Given the description of an element on the screen output the (x, y) to click on. 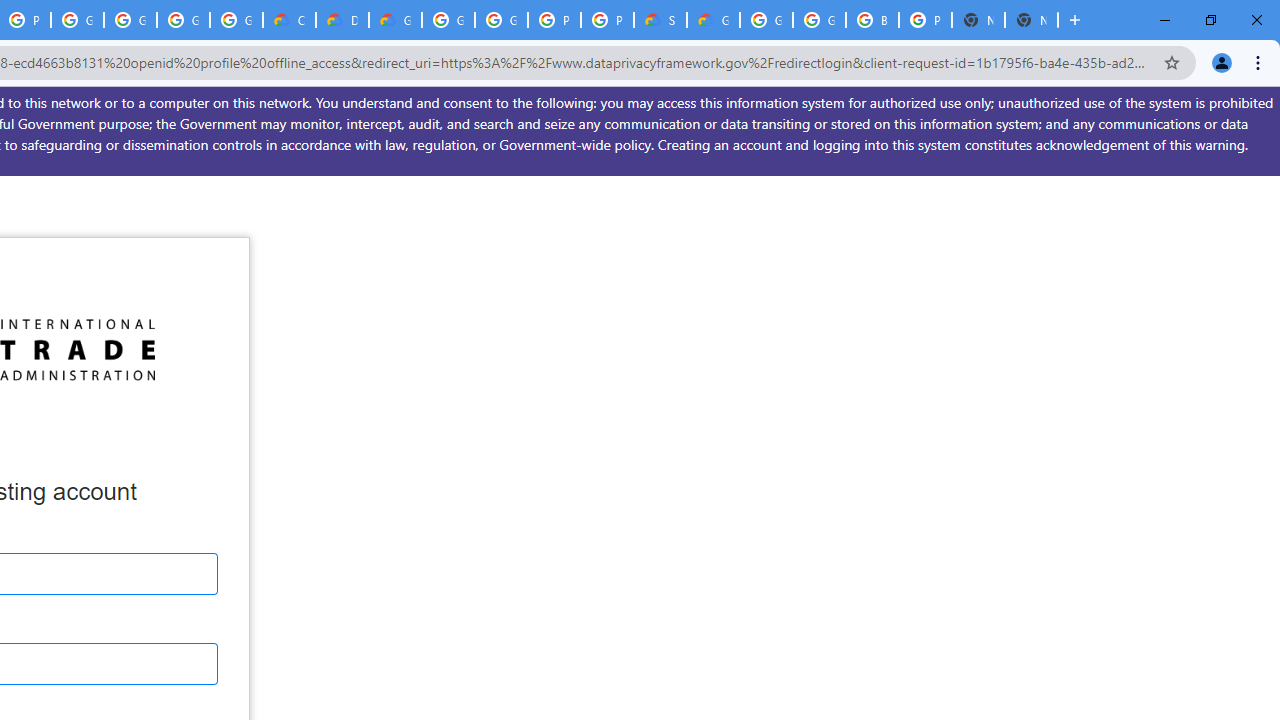
Google Cloud Platform (501, 20)
Gemini for Business and Developers | Google Cloud (395, 20)
Customer Care | Google Cloud (289, 20)
